Given the description of an element on the screen output the (x, y) to click on. 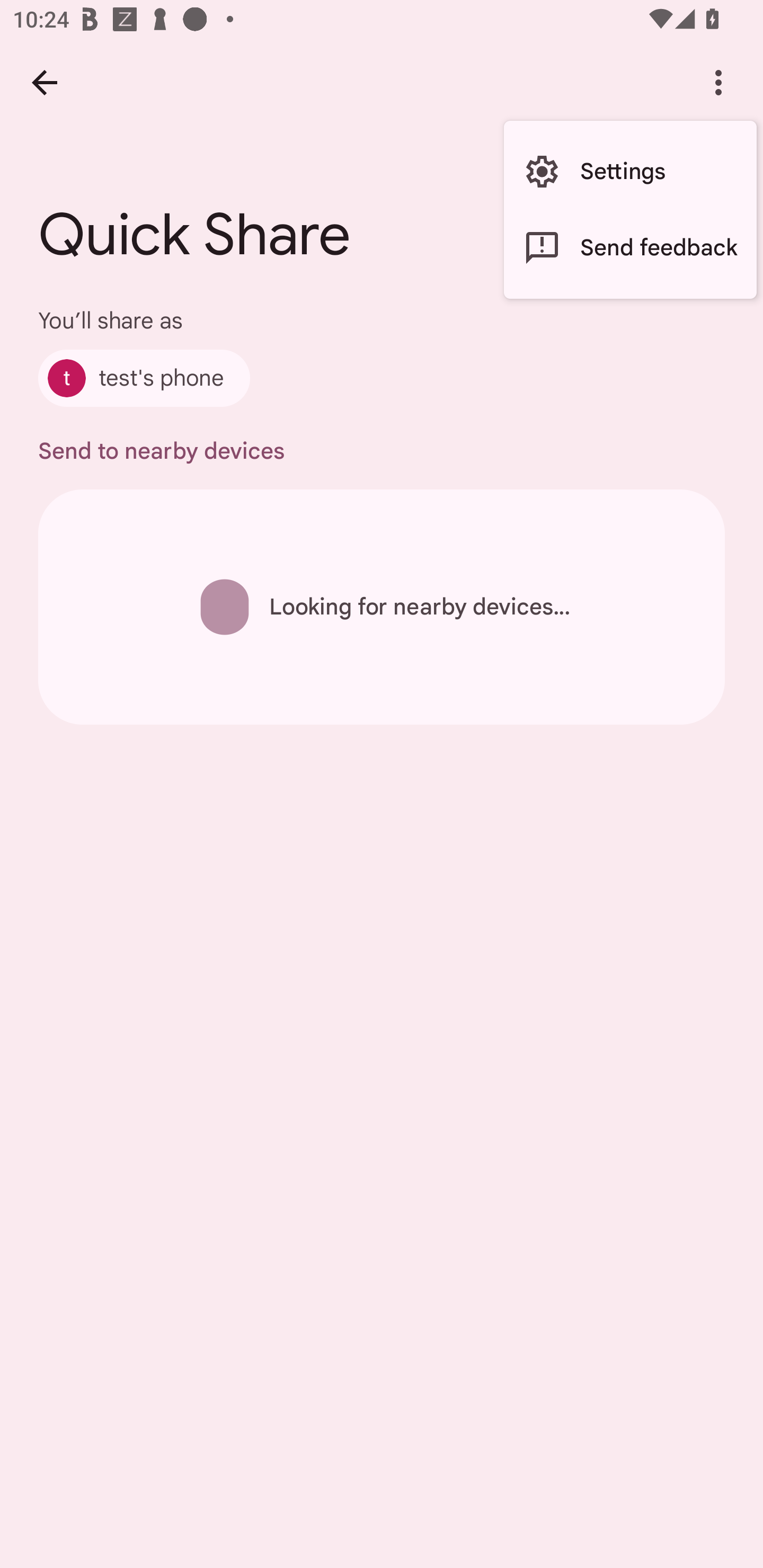
Settings (629, 171)
Send feedback (629, 247)
